Given the description of an element on the screen output the (x, y) to click on. 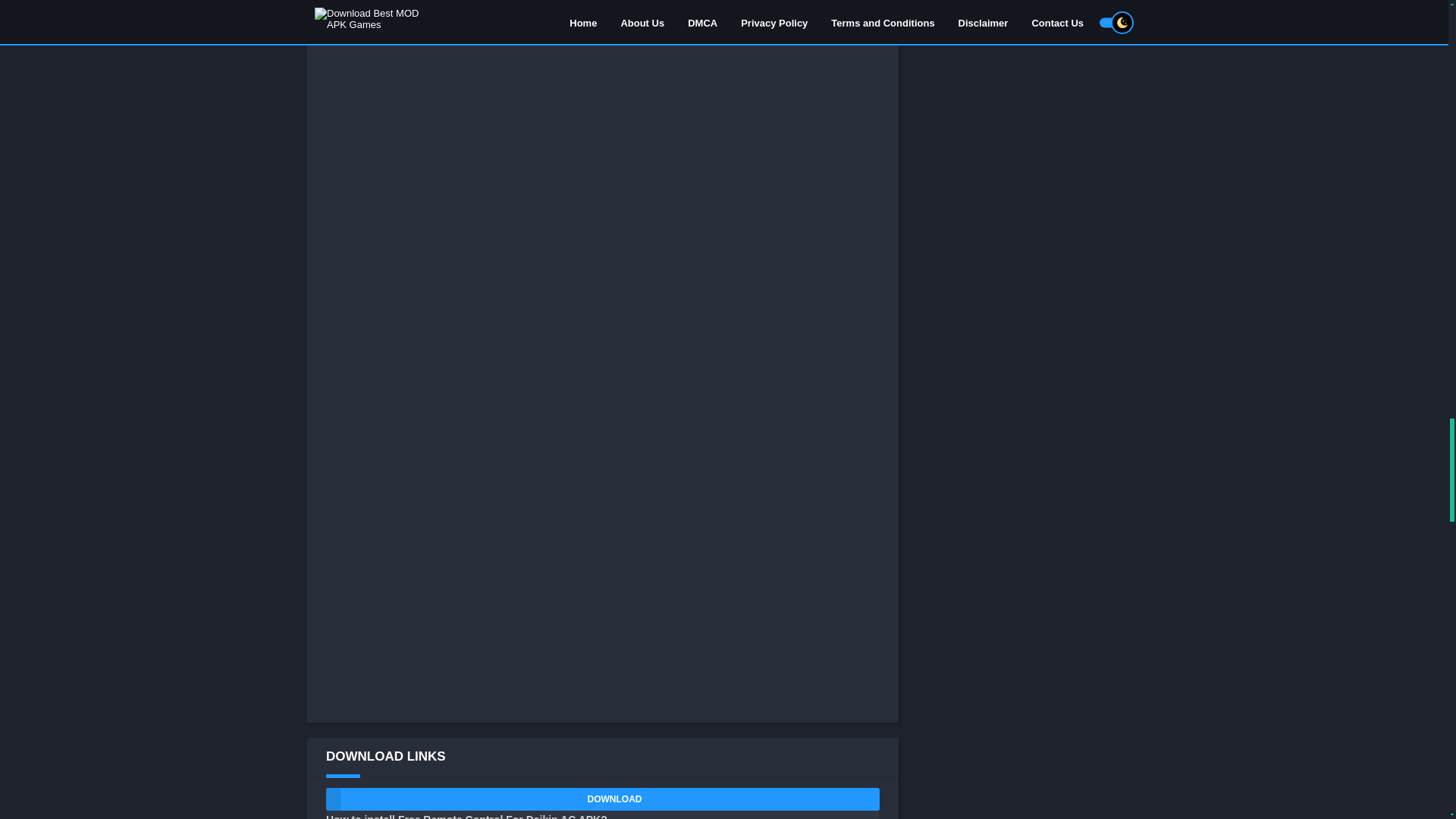
DOWNLOAD (602, 798)
